Given the description of an element on the screen output the (x, y) to click on. 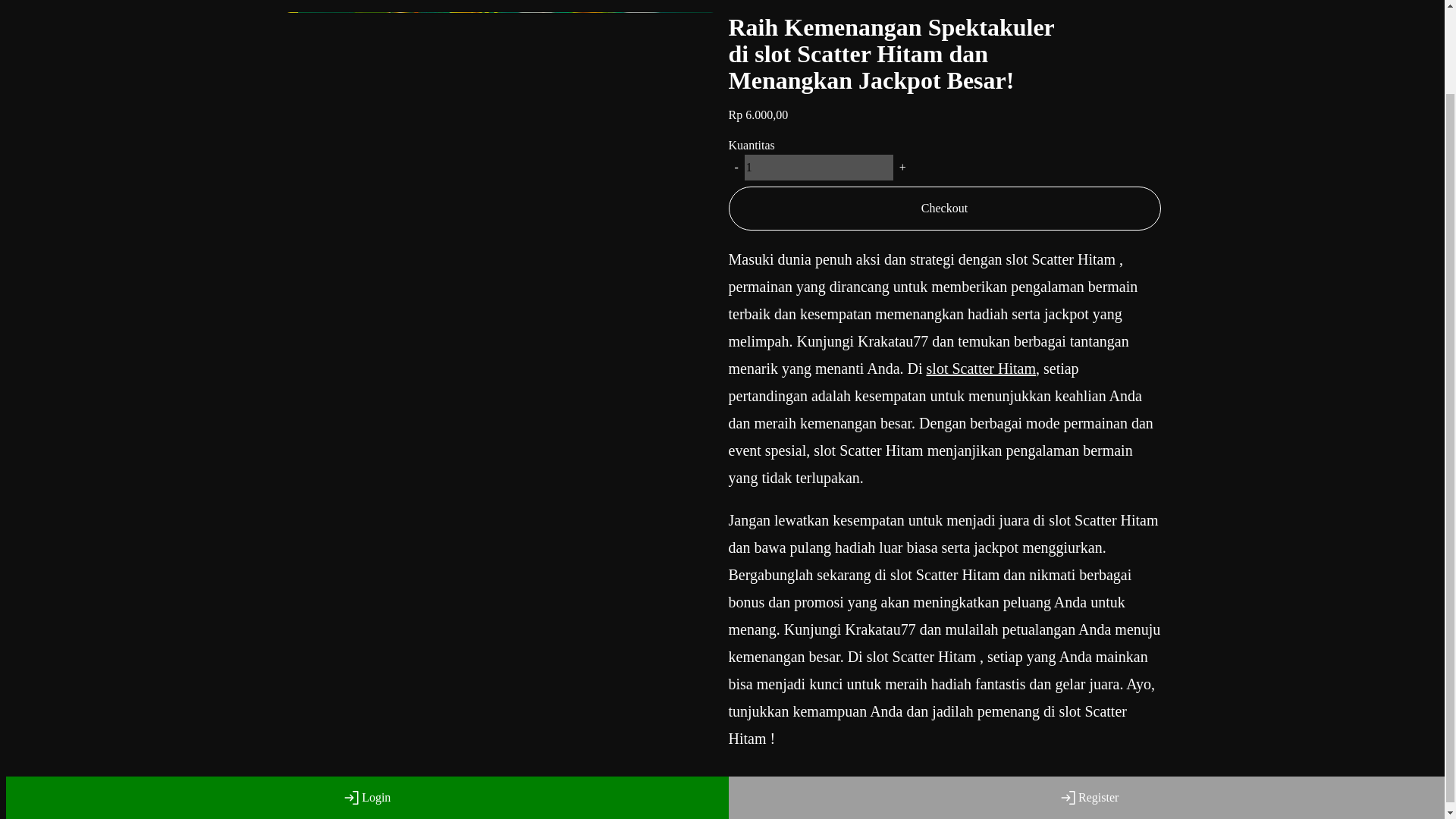
Checkout (944, 208)
1 (818, 167)
slot Scatter Hitam (980, 368)
Login (367, 701)
